Given the description of an element on the screen output the (x, y) to click on. 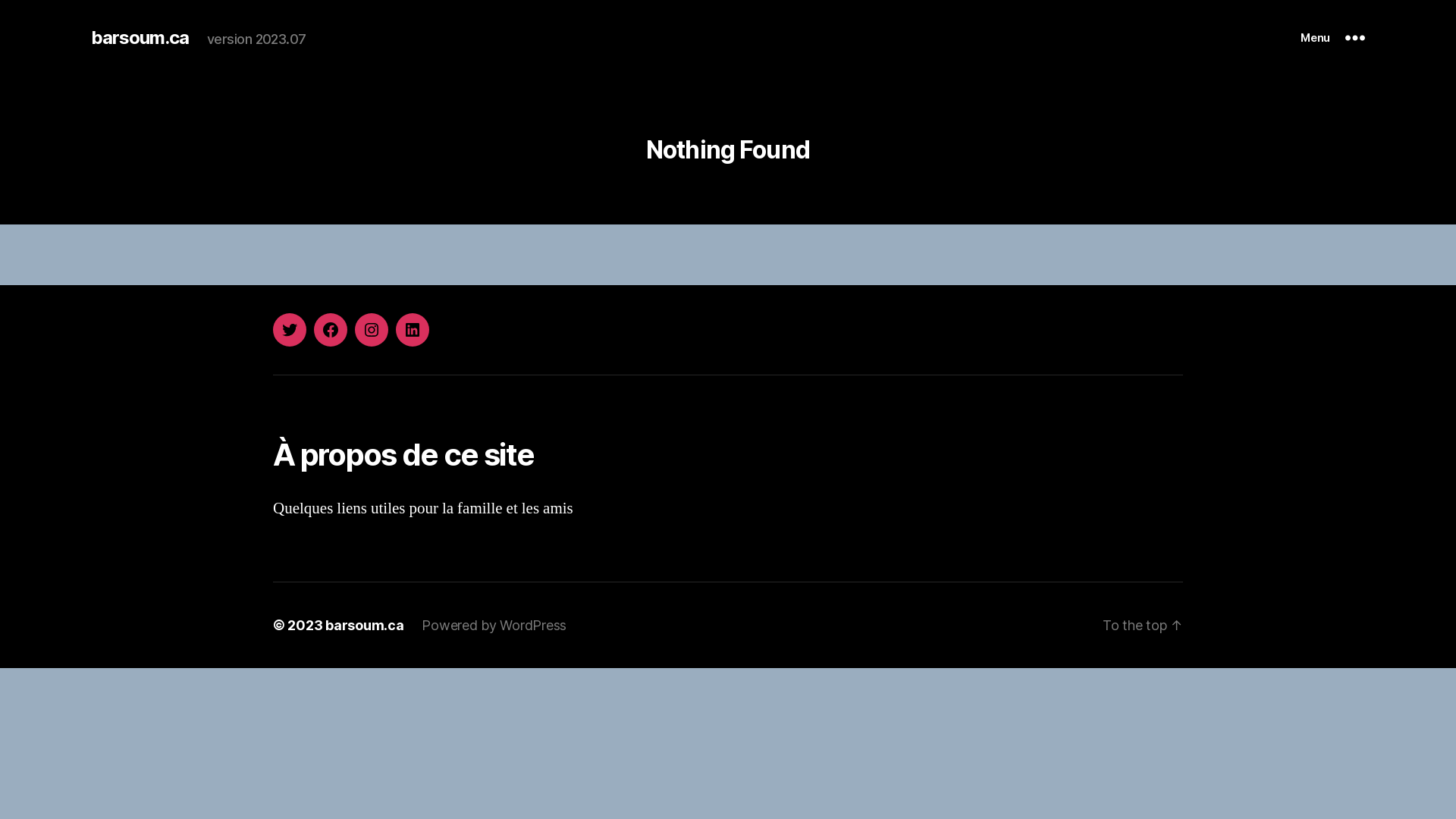
Twitter Element type: text (289, 329)
Instagram Element type: text (371, 329)
LinkedIn Element type: text (412, 329)
barsoum.ca Element type: text (364, 625)
Facebook Element type: text (330, 329)
barsoum.ca Element type: text (139, 37)
Powered by WordPress Element type: text (493, 625)
Menu Element type: text (1332, 37)
